Given the description of an element on the screen output the (x, y) to click on. 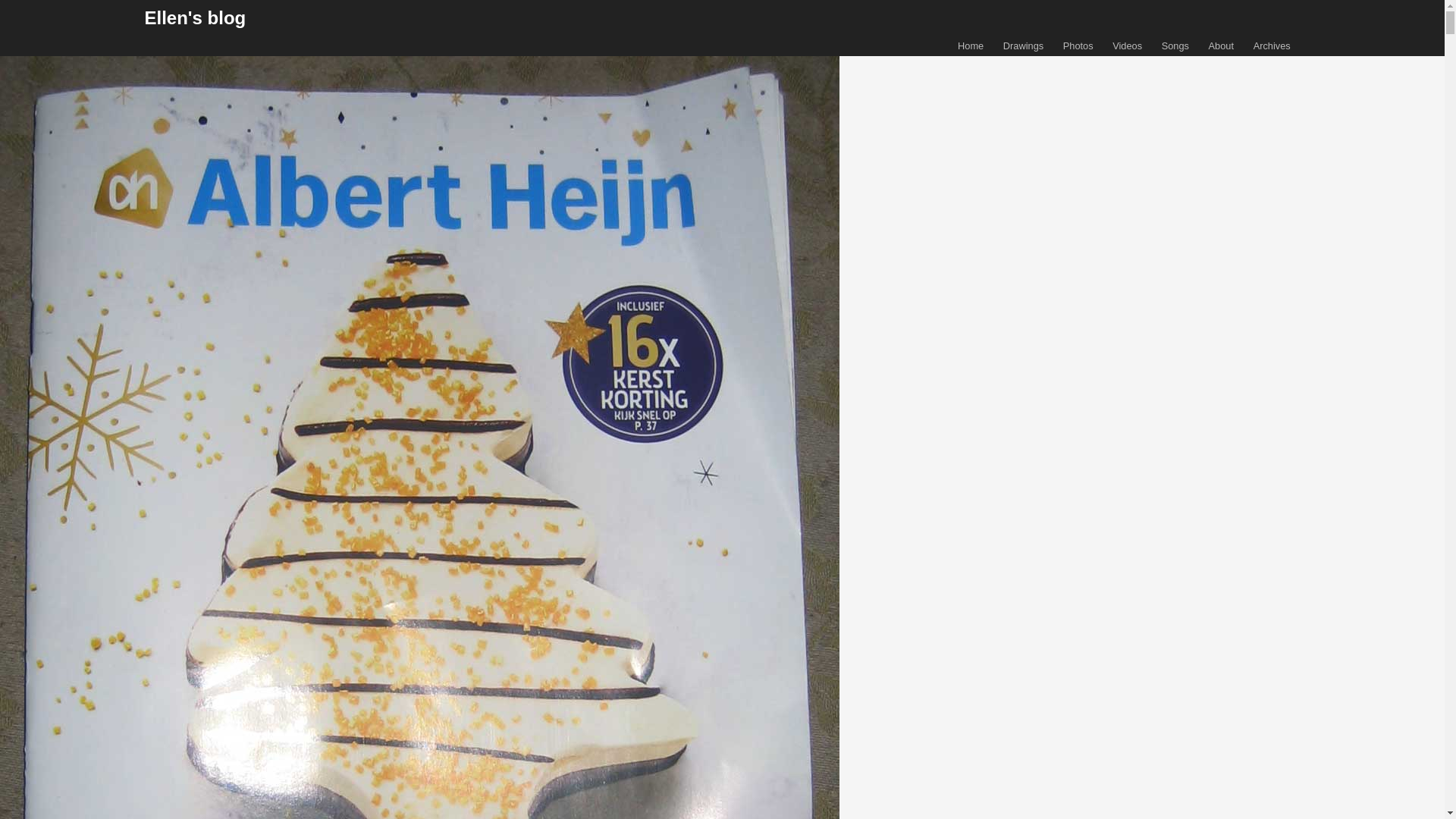
Drawings (1023, 45)
Songs (1175, 45)
Photos (1077, 45)
Ellen's blog (195, 17)
Home (971, 45)
Archives (1271, 45)
Videos (1126, 45)
About (1220, 45)
